Given the description of an element on the screen output the (x, y) to click on. 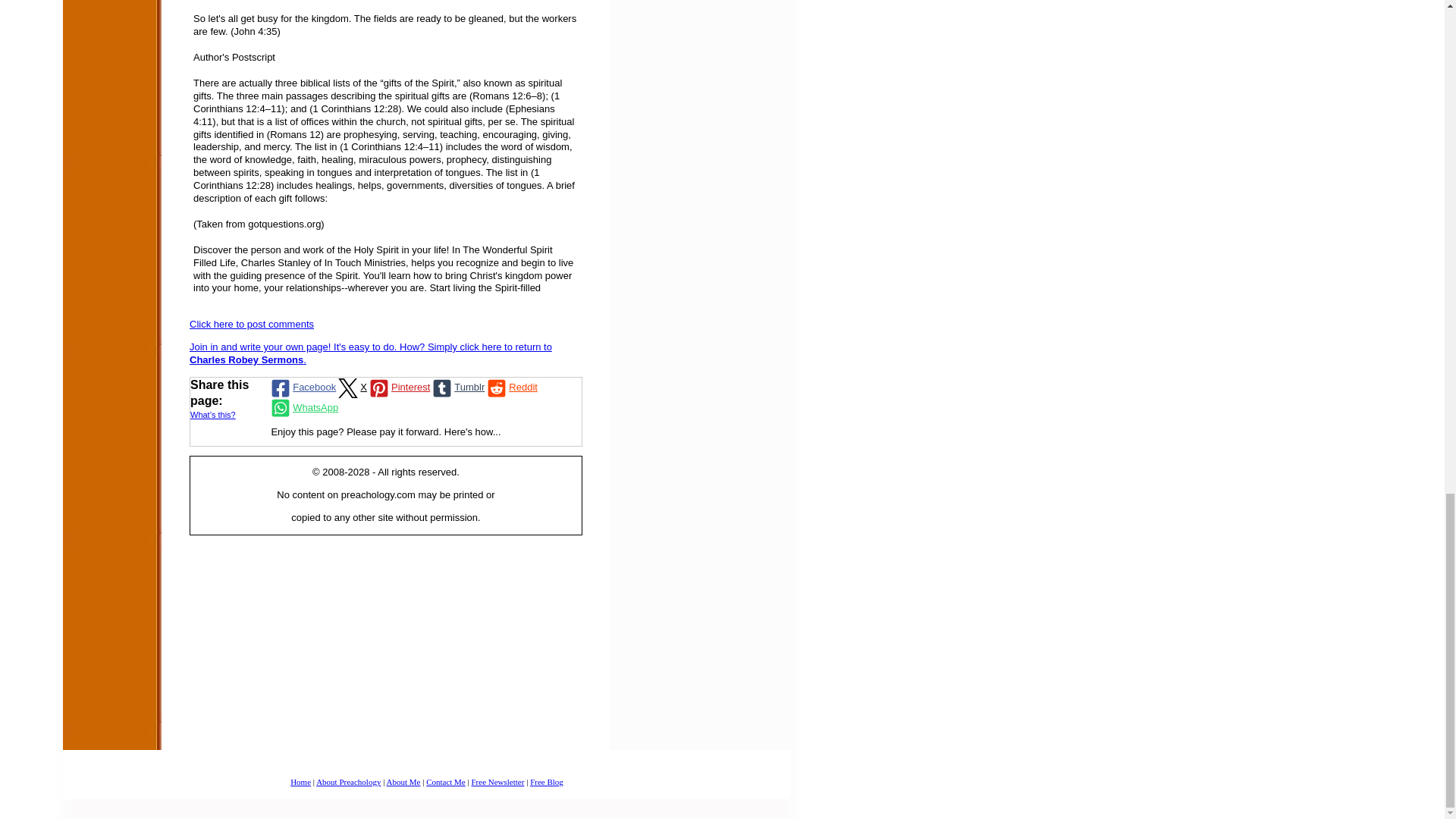
Click here to post comments (251, 324)
